Given the description of an element on the screen output the (x, y) to click on. 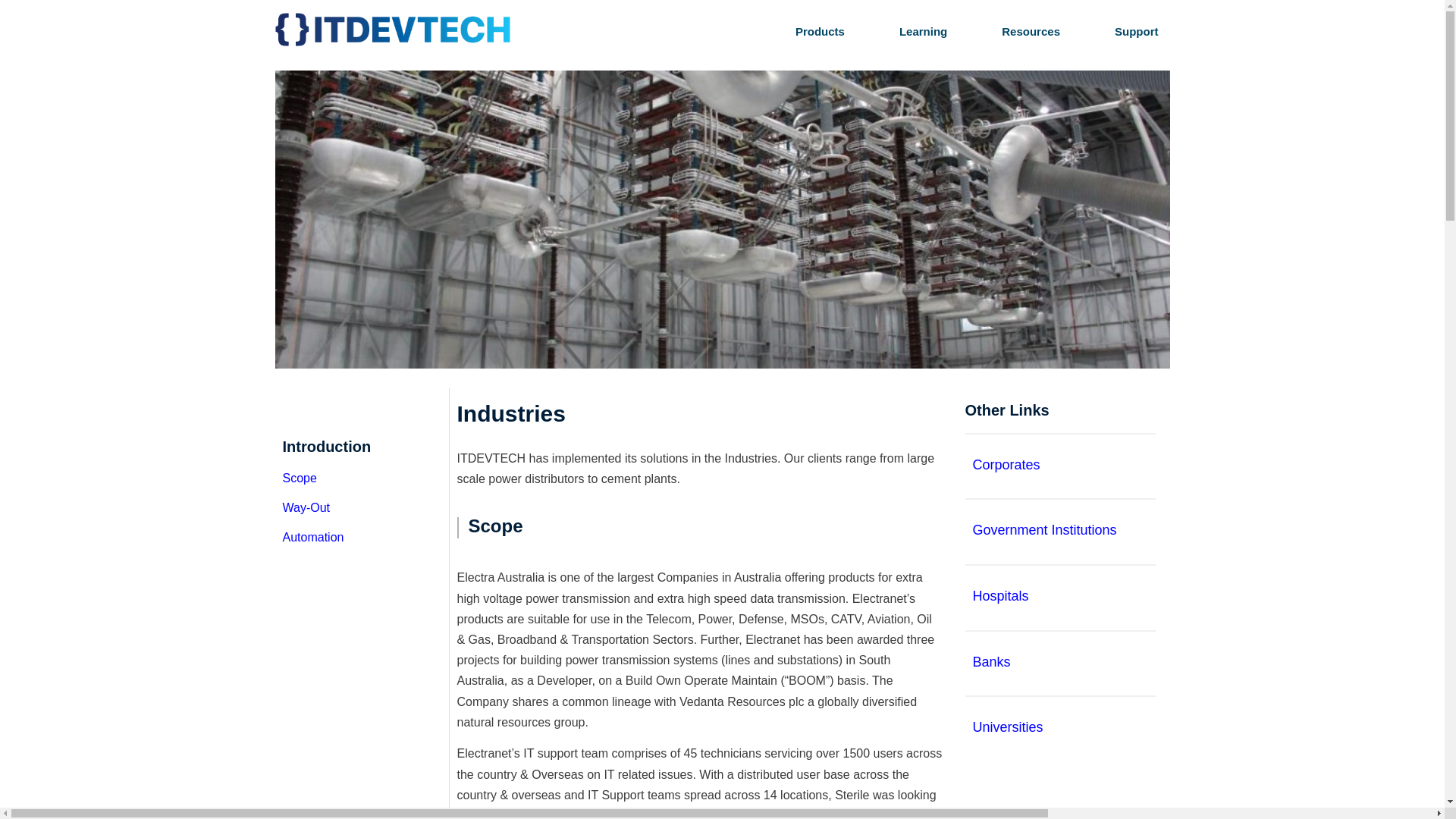
Products (809, 31)
Resources (1020, 31)
Support (1117, 31)
Learning (912, 31)
